Given the description of an element on the screen output the (x, y) to click on. 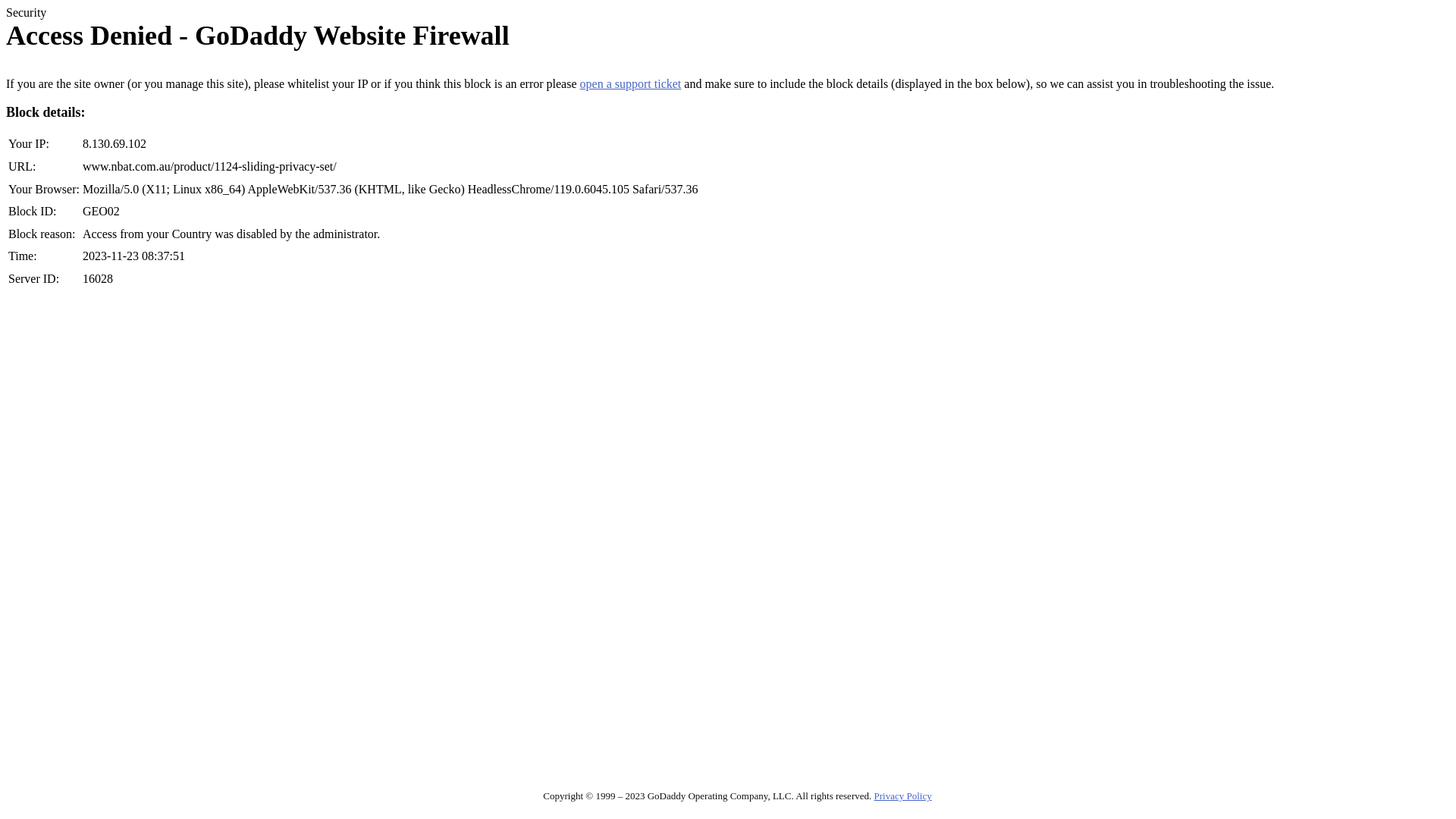
Privacy Policy Element type: text (902, 795)
open a support ticket Element type: text (630, 83)
